Given the description of an element on the screen output the (x, y) to click on. 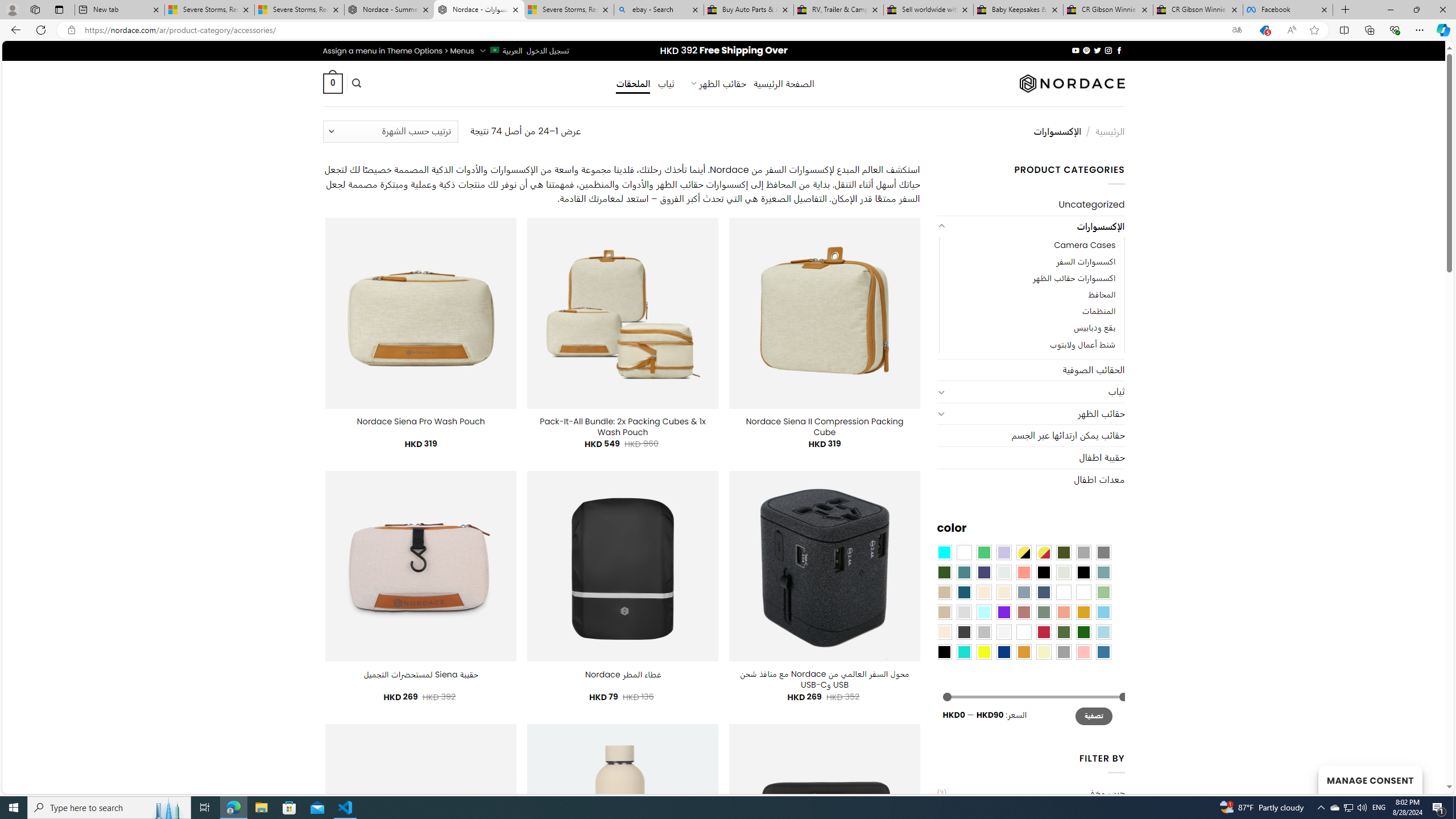
New Tab (1346, 9)
 0  (332, 83)
Nordace - Summer Adventures 2024 (389, 9)
Assign a menu in Theme Options > Menus (397, 50)
View site information (70, 29)
Cream (1003, 591)
